Given the description of an element on the screen output the (x, y) to click on. 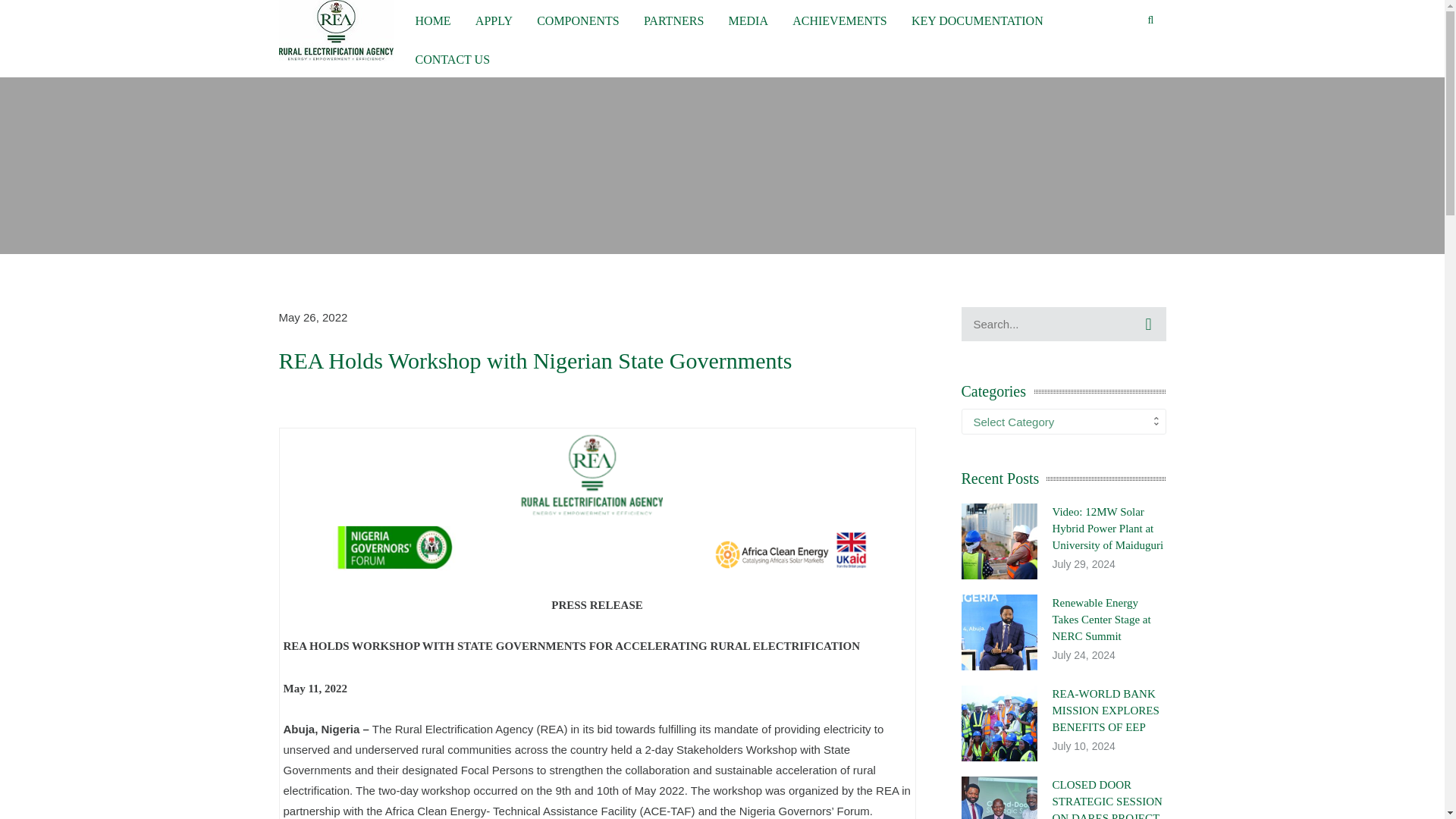
MEDIA (748, 19)
REA-WORLD BANK MISSION EXPLORES BENEFITS OF EEP (1105, 710)
PARTNERS (673, 19)
CLOSED DOOR STRATEGIC SESSION ON DARES PROJECT (1106, 798)
APPLY (494, 19)
HOME (432, 19)
COMPONENTS (578, 19)
Renewable Energy Takes Center Stage at NERC Summit (1101, 619)
